Given the description of an element on the screen output the (x, y) to click on. 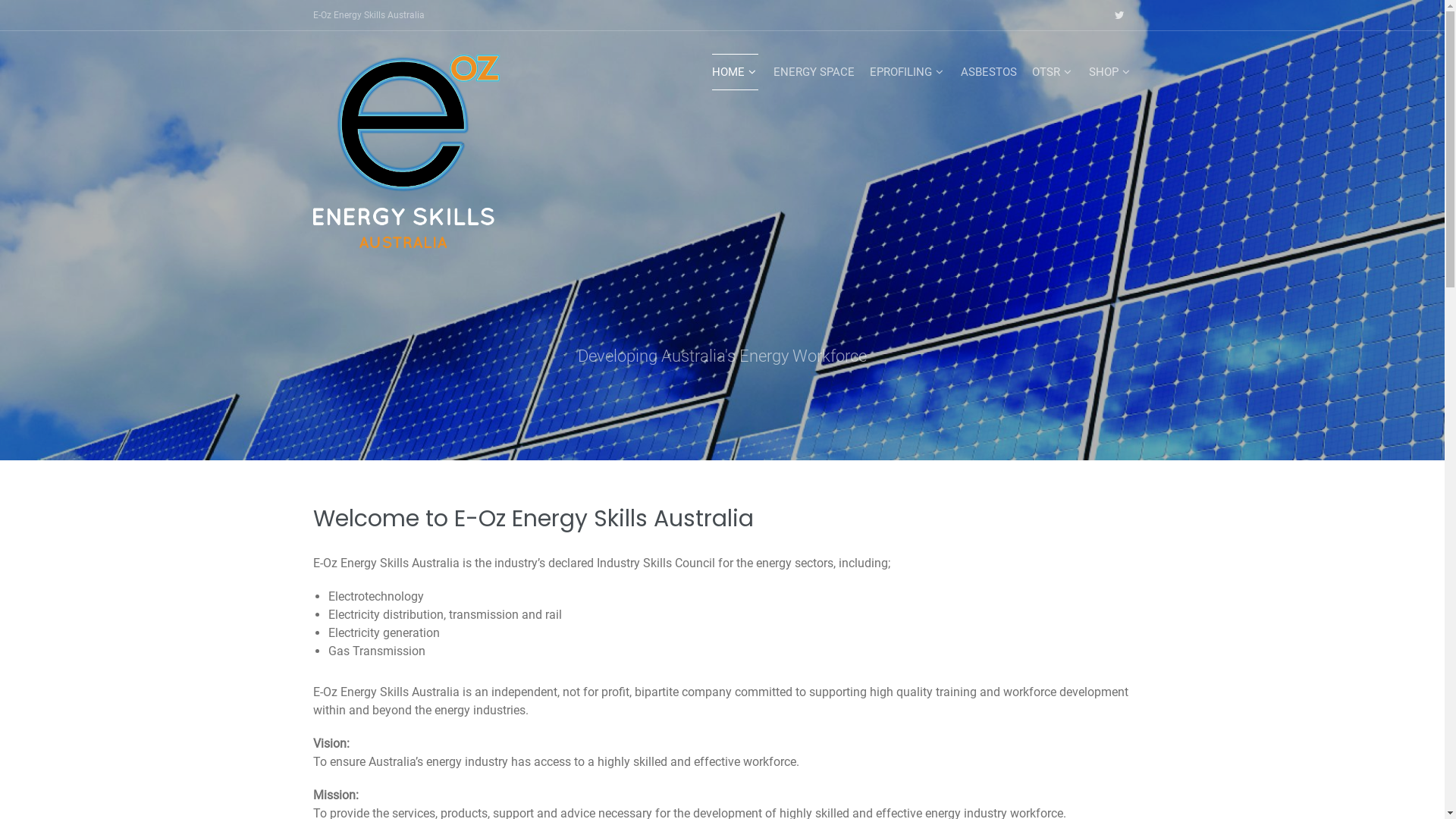
OTSR Element type: text (1052, 71)
EPROFILING Element type: text (906, 71)
ENERGY SPACE Element type: text (813, 71)
Search Element type: text (50, 17)
ASBESTOS Element type: text (988, 71)
SHOP Element type: text (1110, 71)
HOME Element type: text (734, 71)
